Given the description of an element on the screen output the (x, y) to click on. 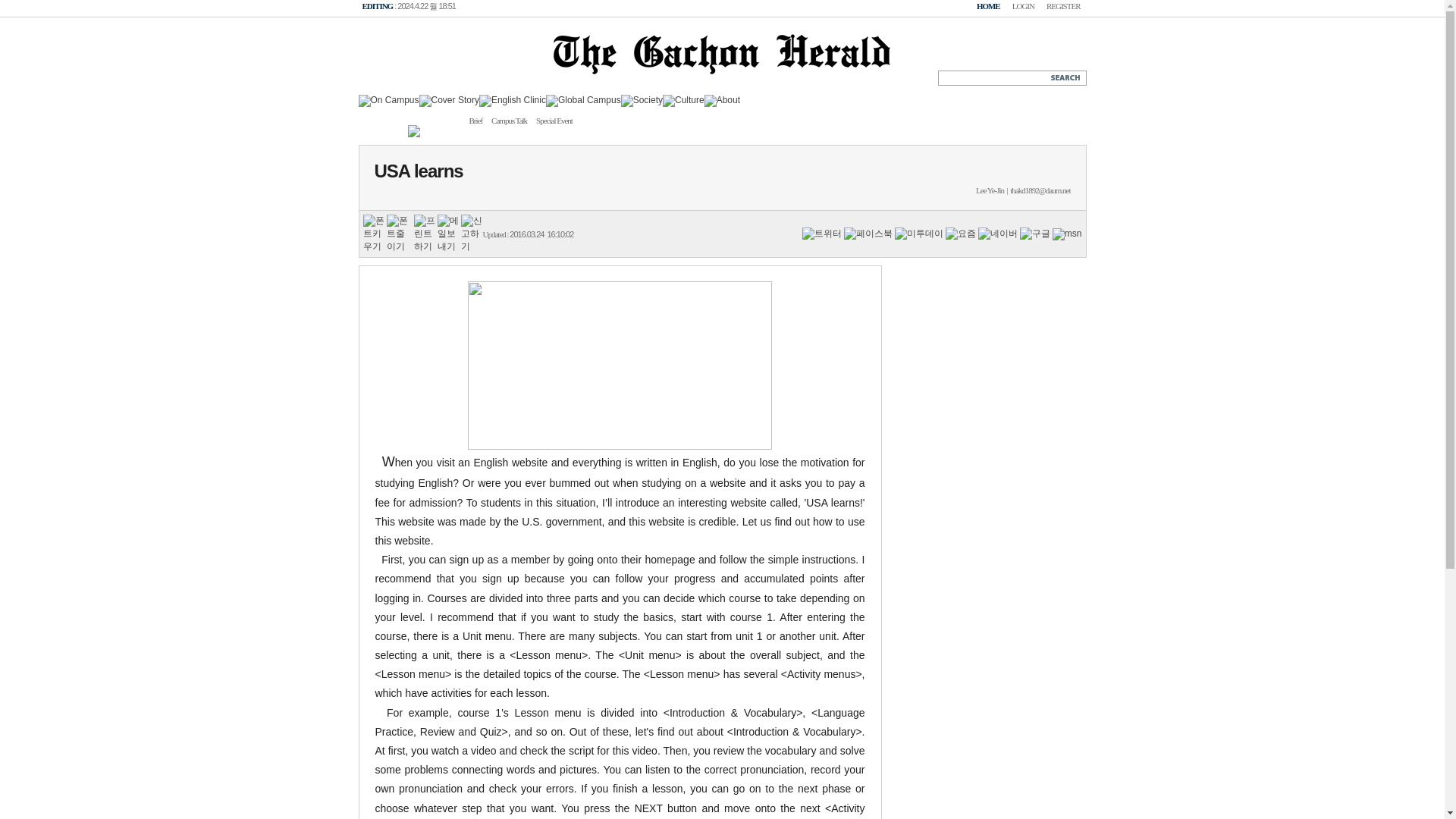
English Clinic (512, 100)
English Clinic (512, 99)
Global Campus (583, 100)
LOGIN (1023, 6)
On Campus (388, 100)
About (721, 100)
Special Event (553, 120)
Campus Talk (508, 120)
The Gachon Herald (721, 78)
Culture (683, 99)
On Campus (388, 99)
Culture (683, 100)
HOME (986, 6)
About (721, 99)
Society (641, 99)
